Given the description of an element on the screen output the (x, y) to click on. 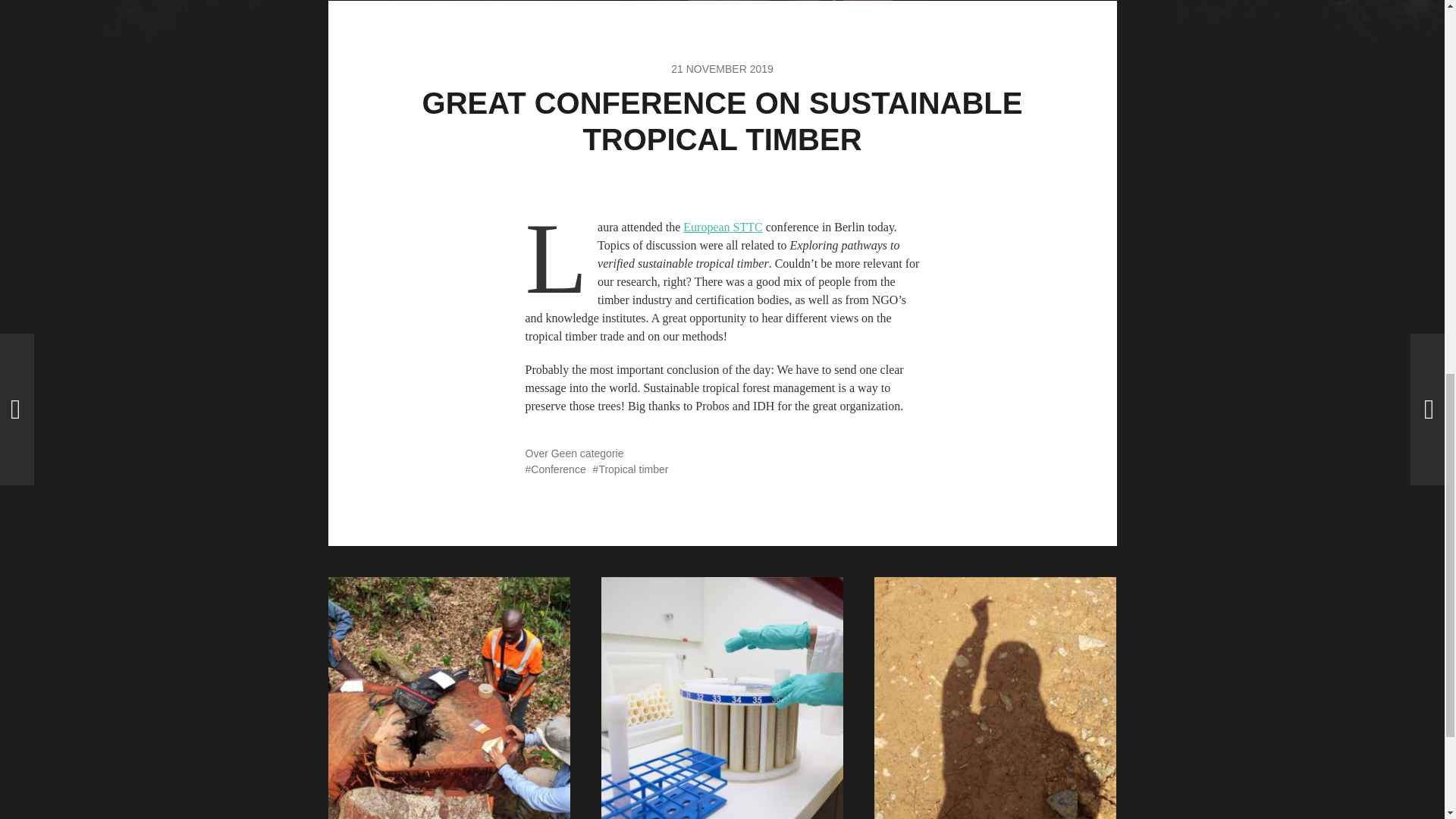
European STTC (721, 226)
Tropical timber (630, 469)
Conference (554, 469)
Geen categorie (587, 453)
